Given the description of an element on the screen output the (x, y) to click on. 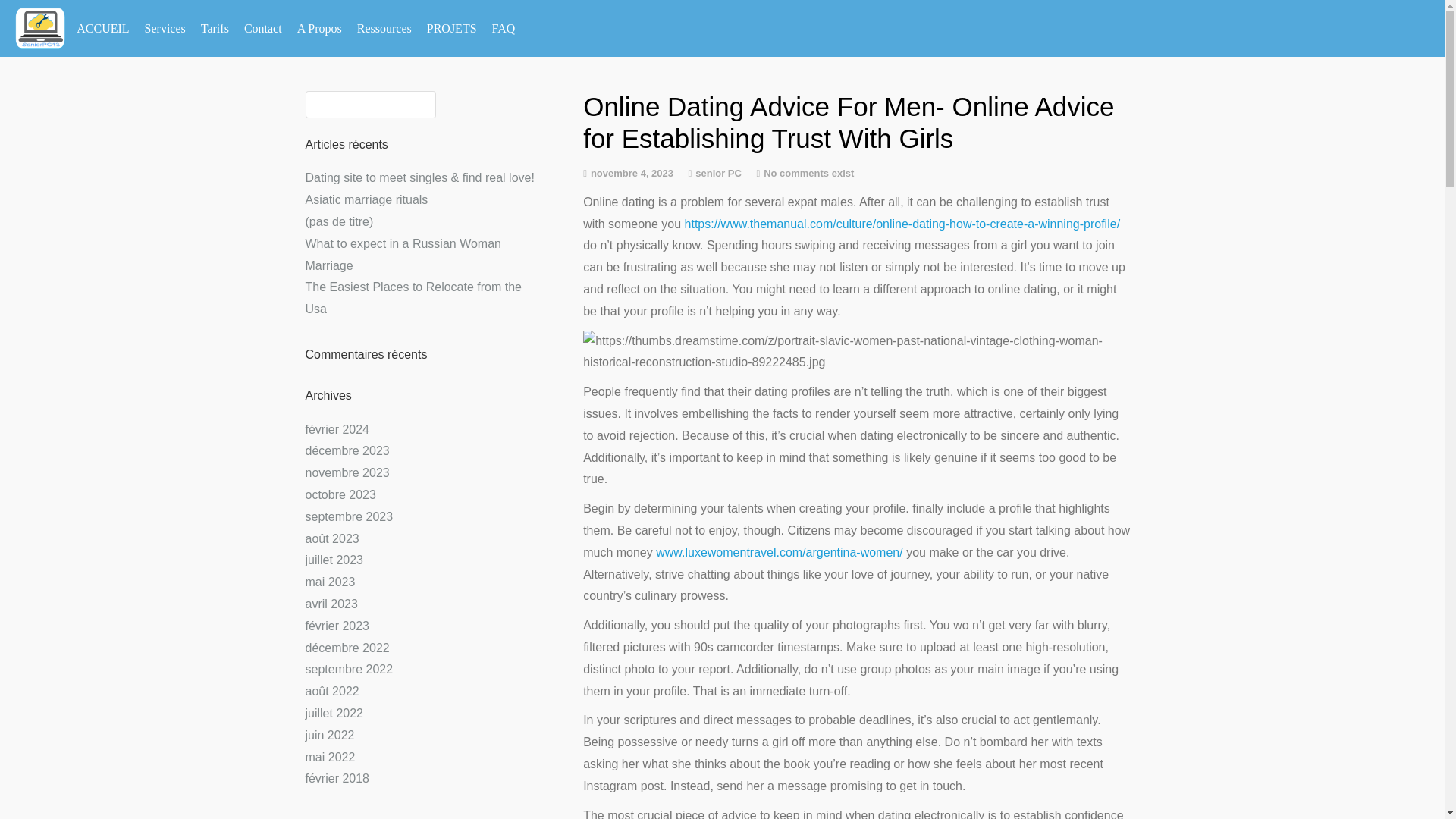
The Easiest Places to Relocate from the Usa (412, 297)
What to expect in a Russian Woman Marriage (402, 254)
Contact (262, 28)
novembre 2023 (346, 472)
A Propos (319, 28)
Ressources (384, 28)
octobre 2023 (339, 494)
ACCUEIL (102, 28)
Services (164, 28)
Asiatic marriage rituals (366, 199)
Search (32, 15)
No comments exist (807, 173)
septembre 2023 (348, 516)
FAQ (503, 28)
Tarifs (214, 28)
